Given the description of an element on the screen output the (x, y) to click on. 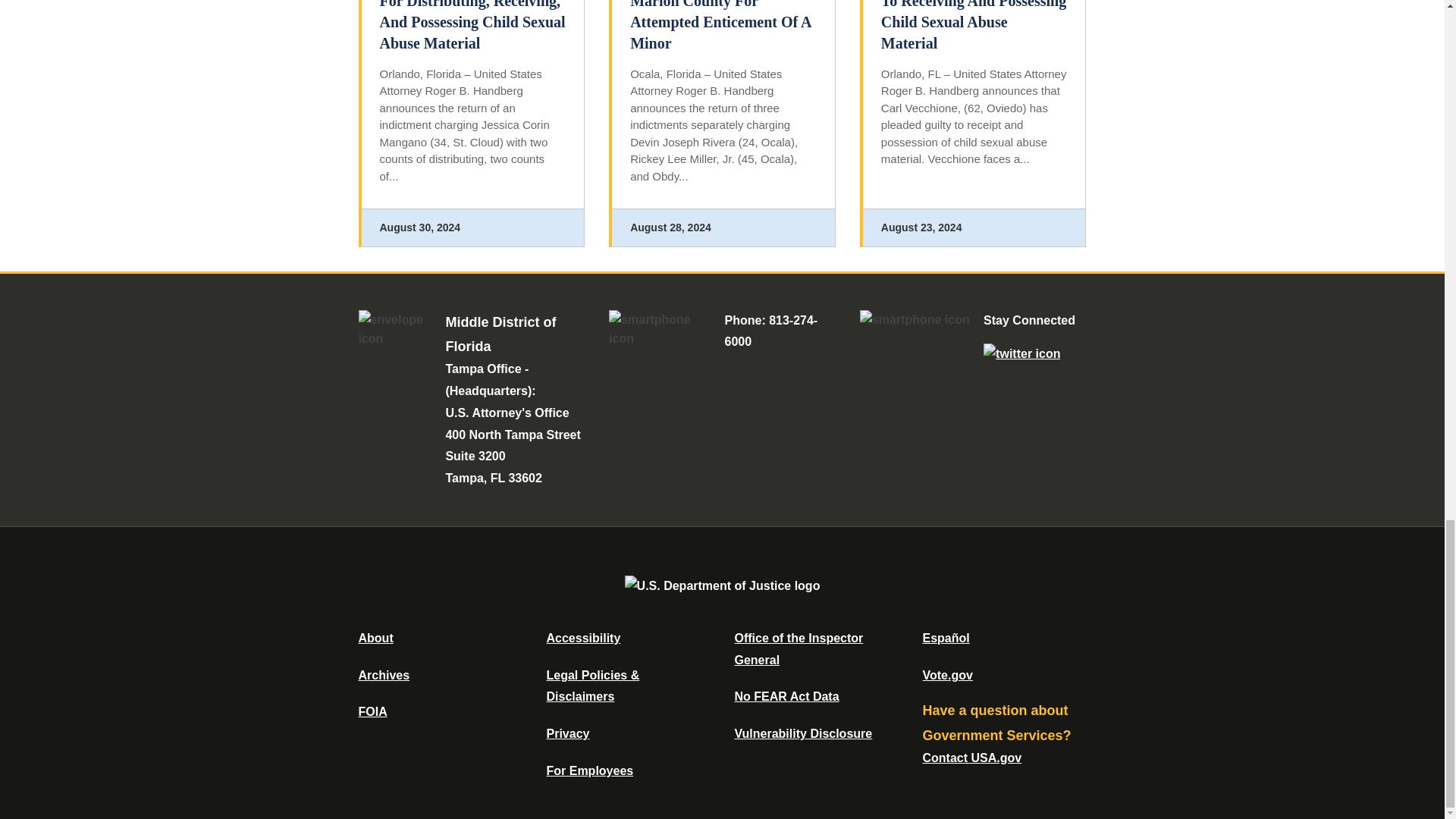
Department of Justice Archive (383, 675)
Legal Policies and Disclaimers (592, 686)
Office of Information Policy (372, 711)
Data Posted Pursuant To The No Fear Act (785, 696)
About DOJ (375, 637)
Accessibility Statement (583, 637)
For Employees (589, 770)
